Given the description of an element on the screen output the (x, y) to click on. 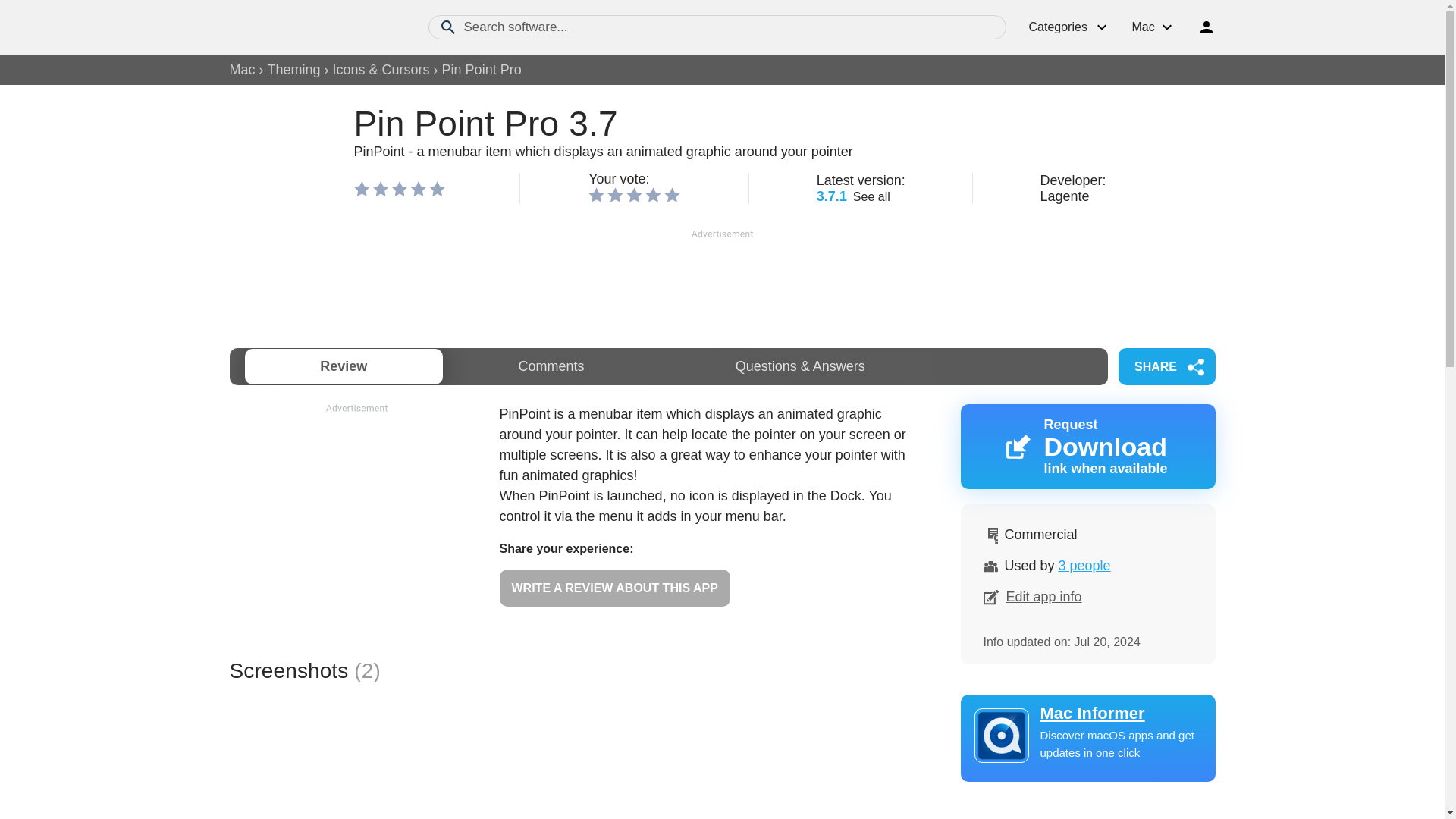
SHARE (1166, 366)
Search software... (717, 27)
Request download link when available (1086, 446)
See all (871, 195)
2 (614, 193)
5 (671, 193)
Mac (241, 69)
Mac Informer (1087, 713)
1 (595, 193)
3 people (1086, 446)
Software downloads and reviews (1084, 565)
Theming (312, 26)
